Given the description of an element on the screen output the (x, y) to click on. 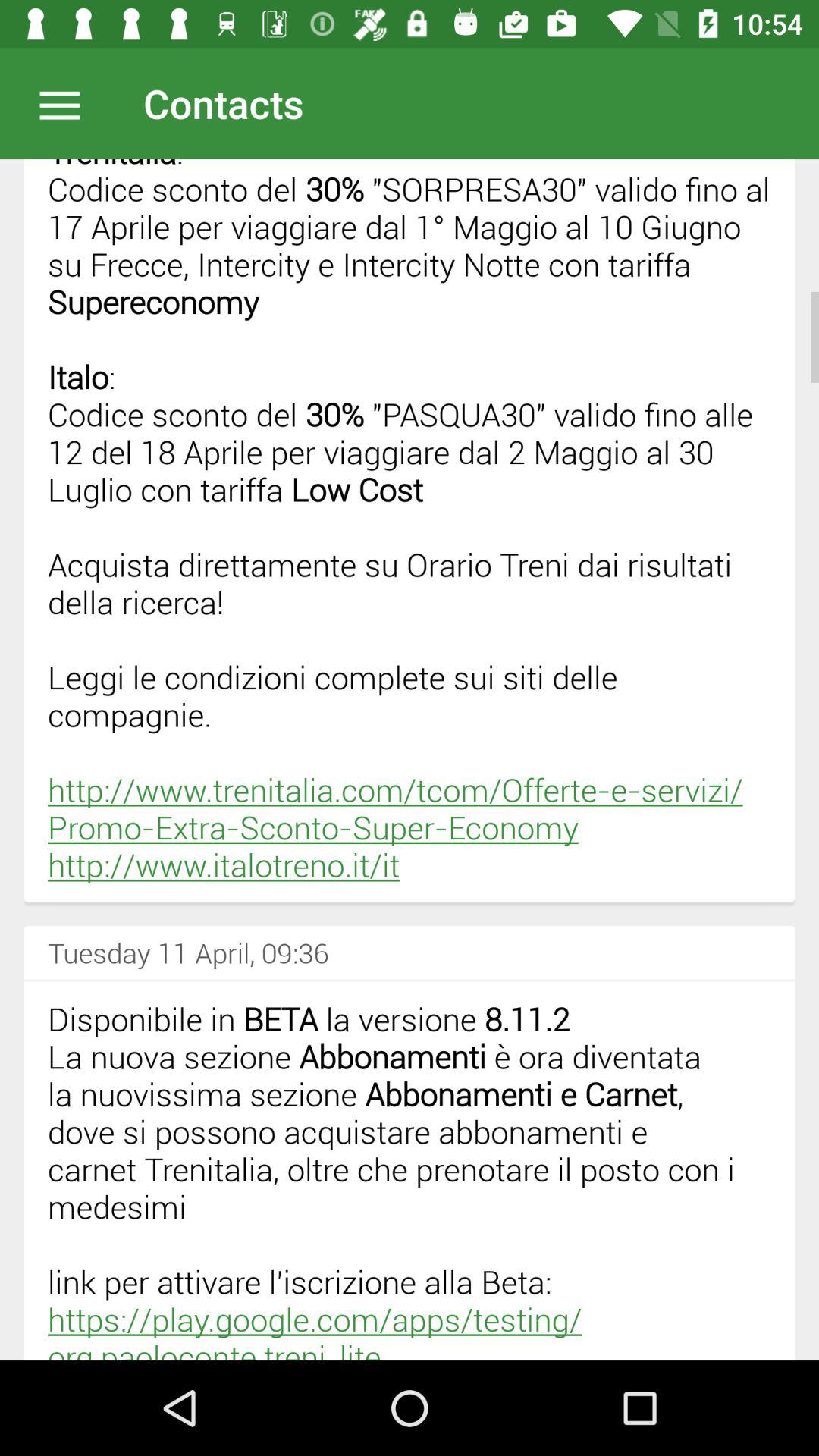
open option menu (67, 103)
